Given the description of an element on the screen output the (x, y) to click on. 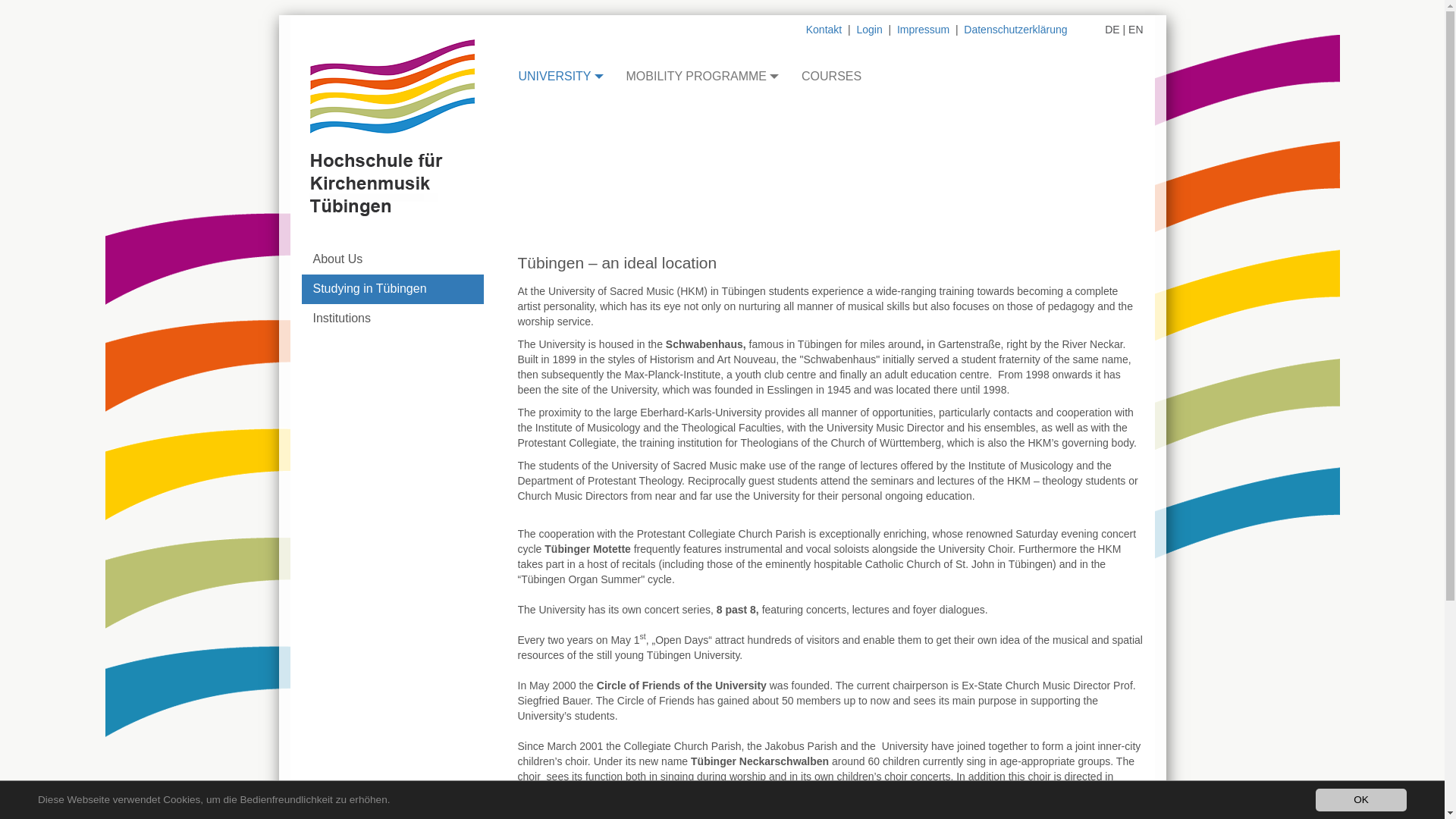
MOBILITY PROGRAMME (714, 76)
Login (869, 29)
Kontakt (823, 29)
About Us (392, 259)
DE (1112, 29)
EN (1135, 29)
UNIVERSITY (572, 76)
COURSES (842, 76)
Impressum (922, 29)
Institutions (392, 318)
